Given the description of an element on the screen output the (x, y) to click on. 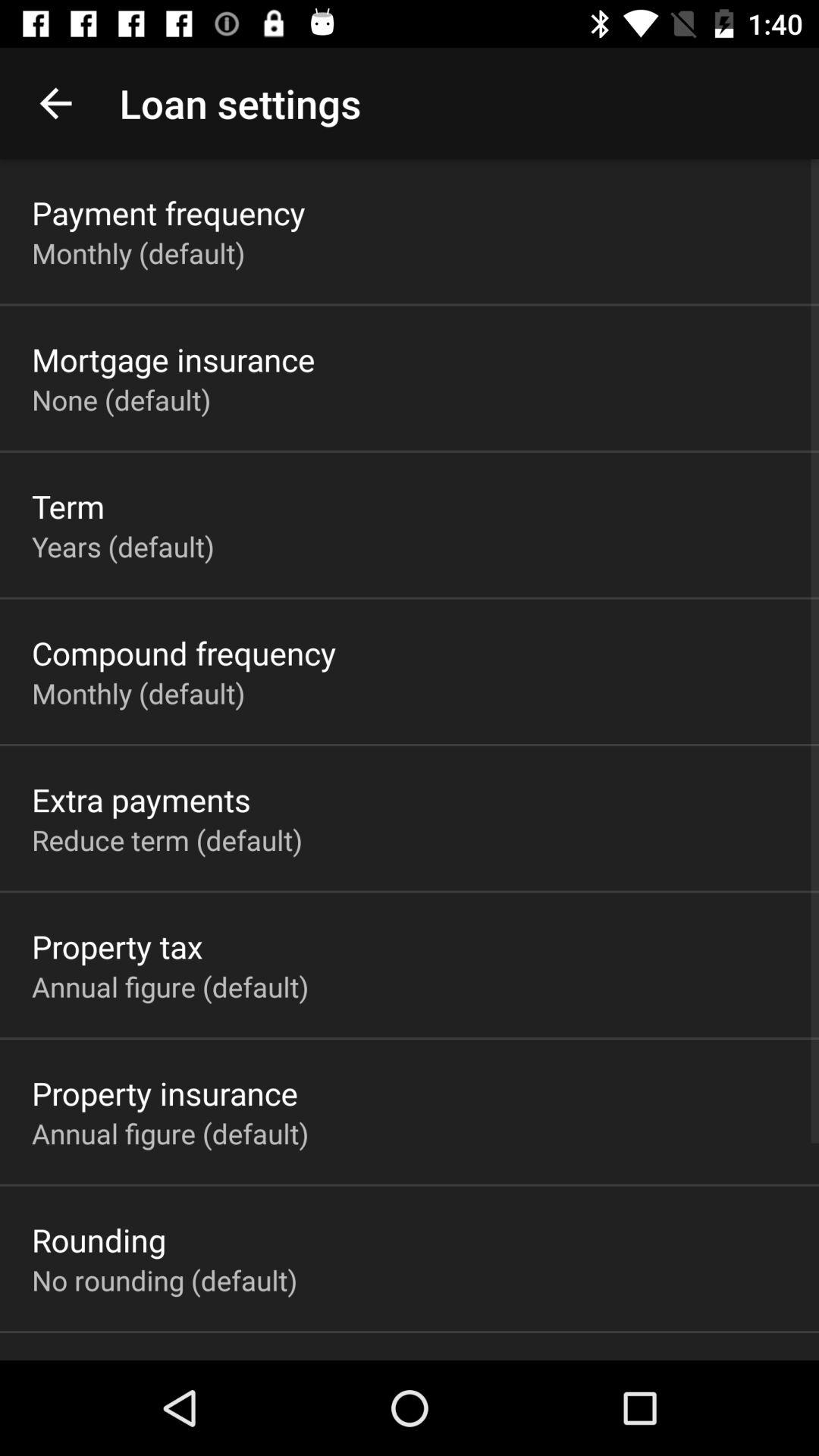
press the app above the monthly (default) (168, 212)
